Given the description of an element on the screen output the (x, y) to click on. 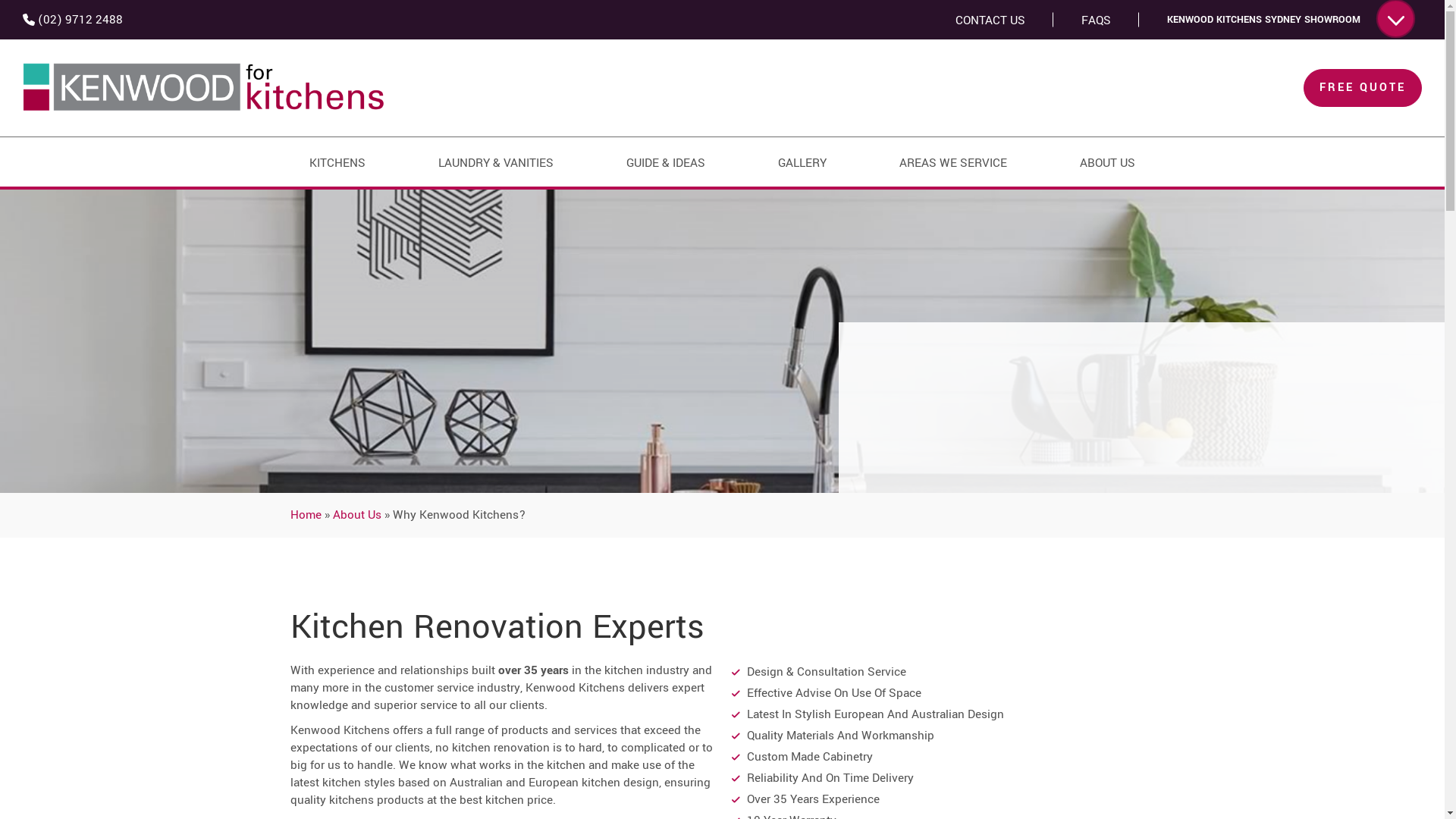
LAUNDRY & VANITIES Element type: text (495, 162)
GUIDE & IDEAS Element type: text (665, 162)
(02) 9712 2488 Element type: text (72, 19)
FREE QUOTE Element type: text (1362, 87)
About Us Element type: text (356, 514)
FAQS Element type: text (1096, 19)
KENWOOD KITCHENS SYDNEY SHOWROOM Element type: text (1290, 19)
CONTACT US Element type: text (990, 19)
KITCHENS Element type: text (337, 162)
Home Element type: text (304, 514)
GALLERY Element type: text (801, 162)
AREAS WE SERVICE Element type: text (953, 162)
ABOUT US Element type: text (1107, 162)
